Given the description of an element on the screen output the (x, y) to click on. 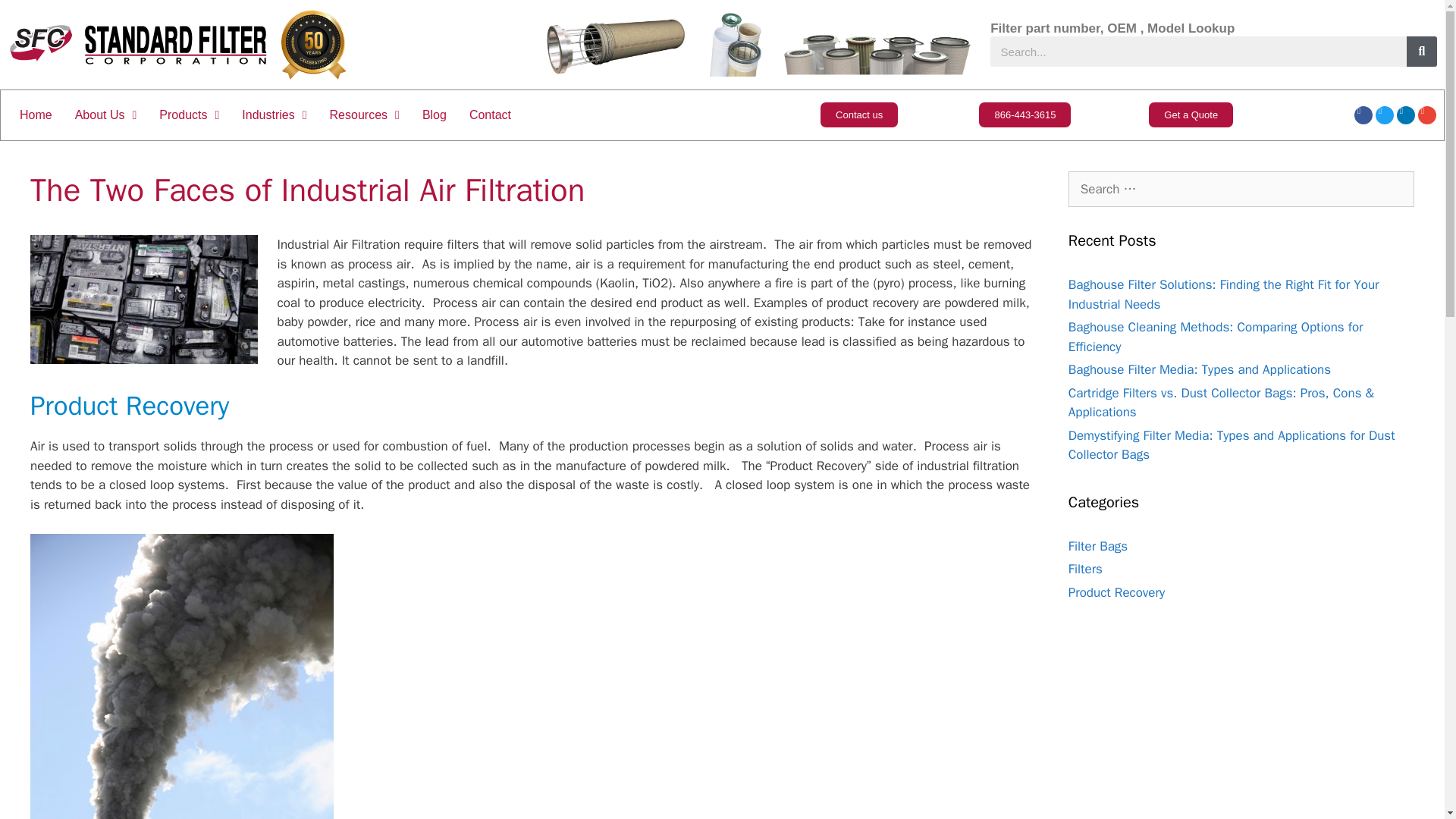
Blog (434, 114)
Home (36, 114)
About Us (106, 114)
Products (189, 114)
Industries (273, 114)
Contact (490, 114)
Resources (364, 114)
Search for: (1240, 189)
